Given the description of an element on the screen output the (x, y) to click on. 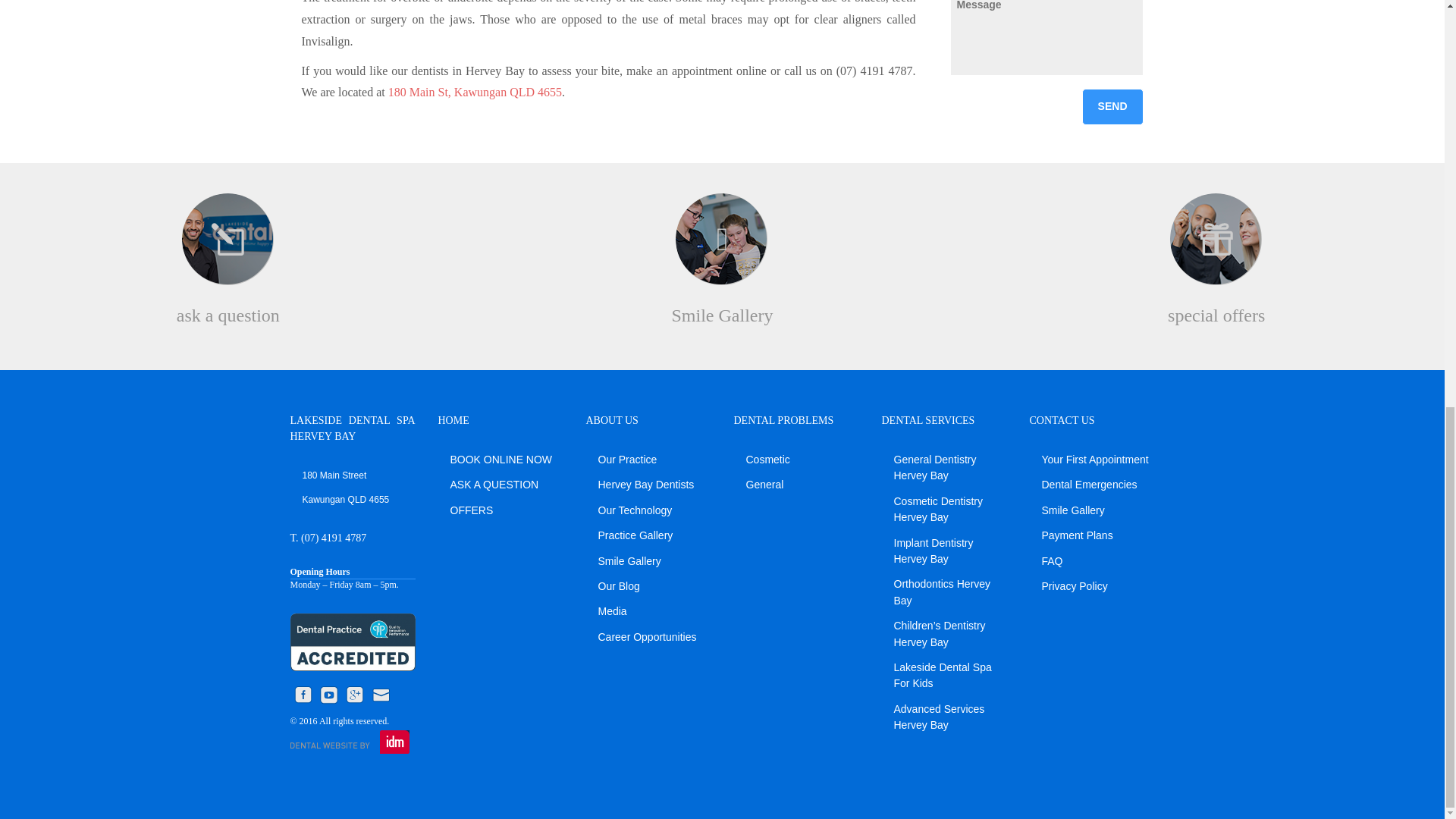
SEND (1111, 106)
